Given the description of an element on the screen output the (x, y) to click on. 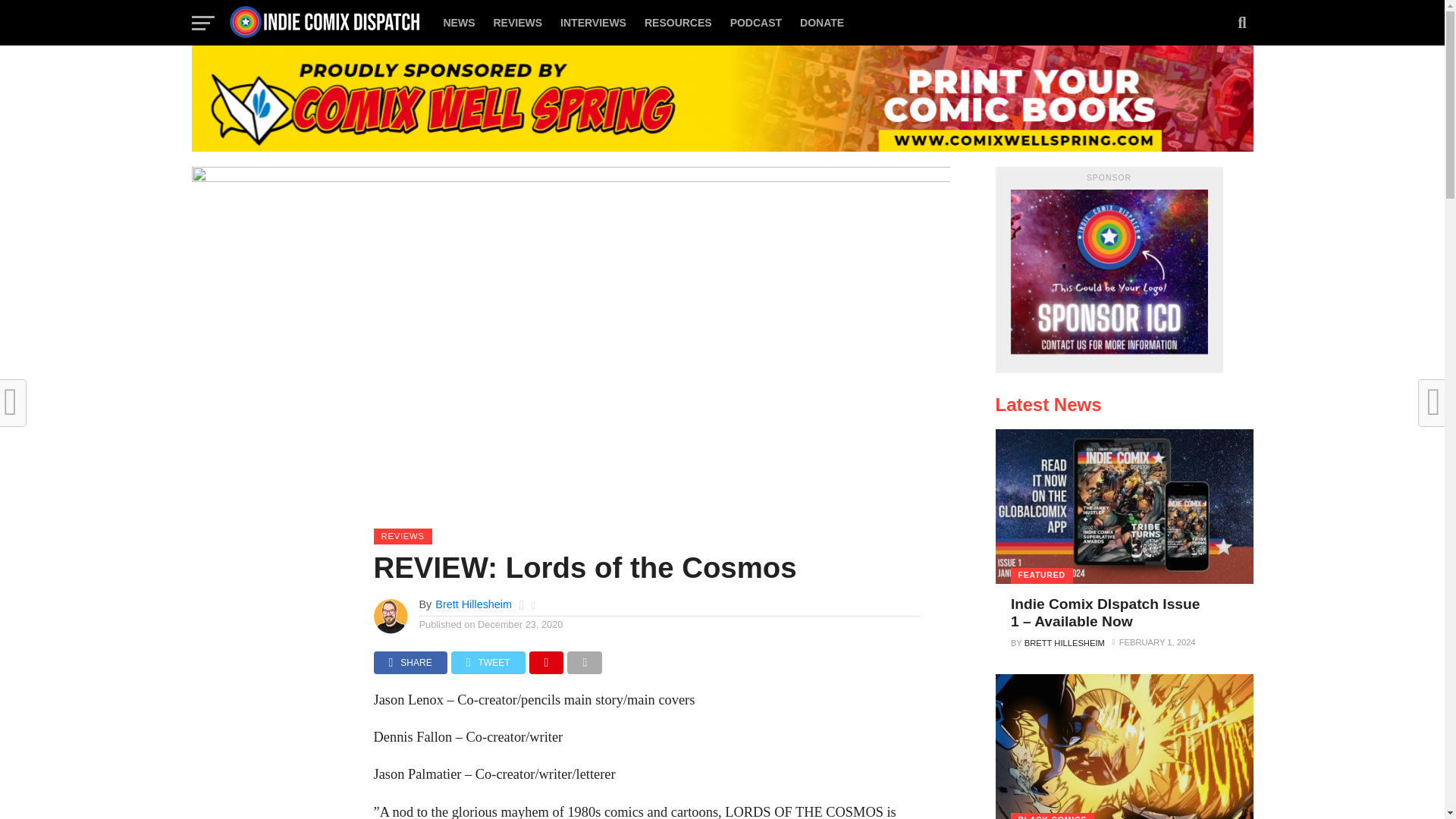
REVIEWS (517, 22)
INTERVIEWS (592, 22)
Brett Hillesheim (473, 604)
NEWS (458, 22)
PODCAST (755, 22)
RESOURCES (677, 22)
DONATE (821, 22)
Posts by Brett Hillesheim (473, 604)
